Given the description of an element on the screen output the (x, y) to click on. 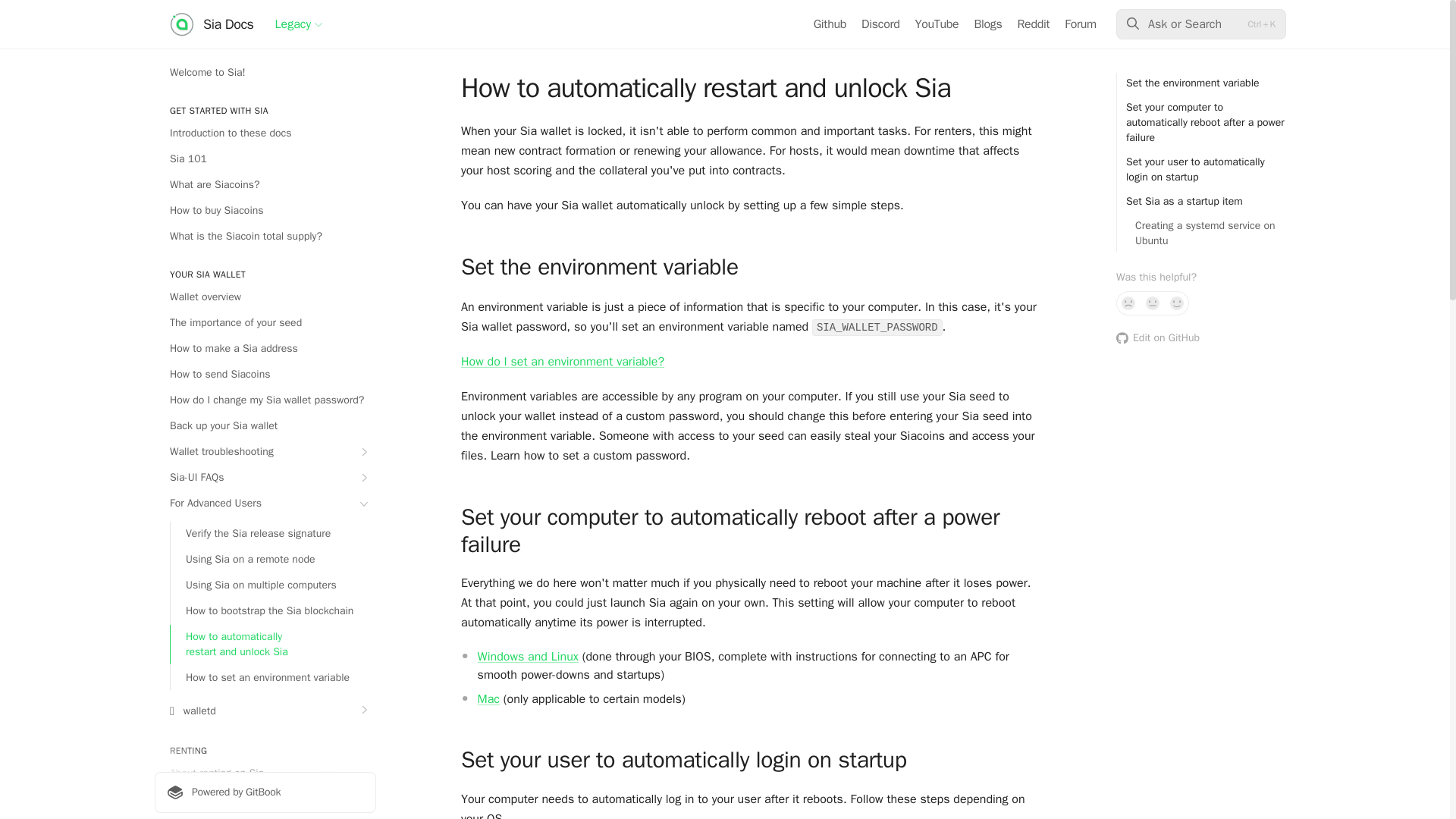
Sia Docs (211, 24)
How to buy Siacoins (264, 210)
Back up your Sia wallet (264, 426)
How do I change my Sia wallet password? (264, 400)
How to make a Sia address (264, 348)
Yes, it was! (1176, 303)
Using Sia on a remote node (272, 559)
Not sure (1152, 303)
Sia-UI FAQs (264, 477)
How to send Siacoins (264, 374)
YouTube (937, 24)
The importance of your seed (264, 322)
Sia 101 (264, 159)
What are Siacoins? (264, 184)
What is the Siacoin total supply? (264, 236)
